Given the description of an element on the screen output the (x, y) to click on. 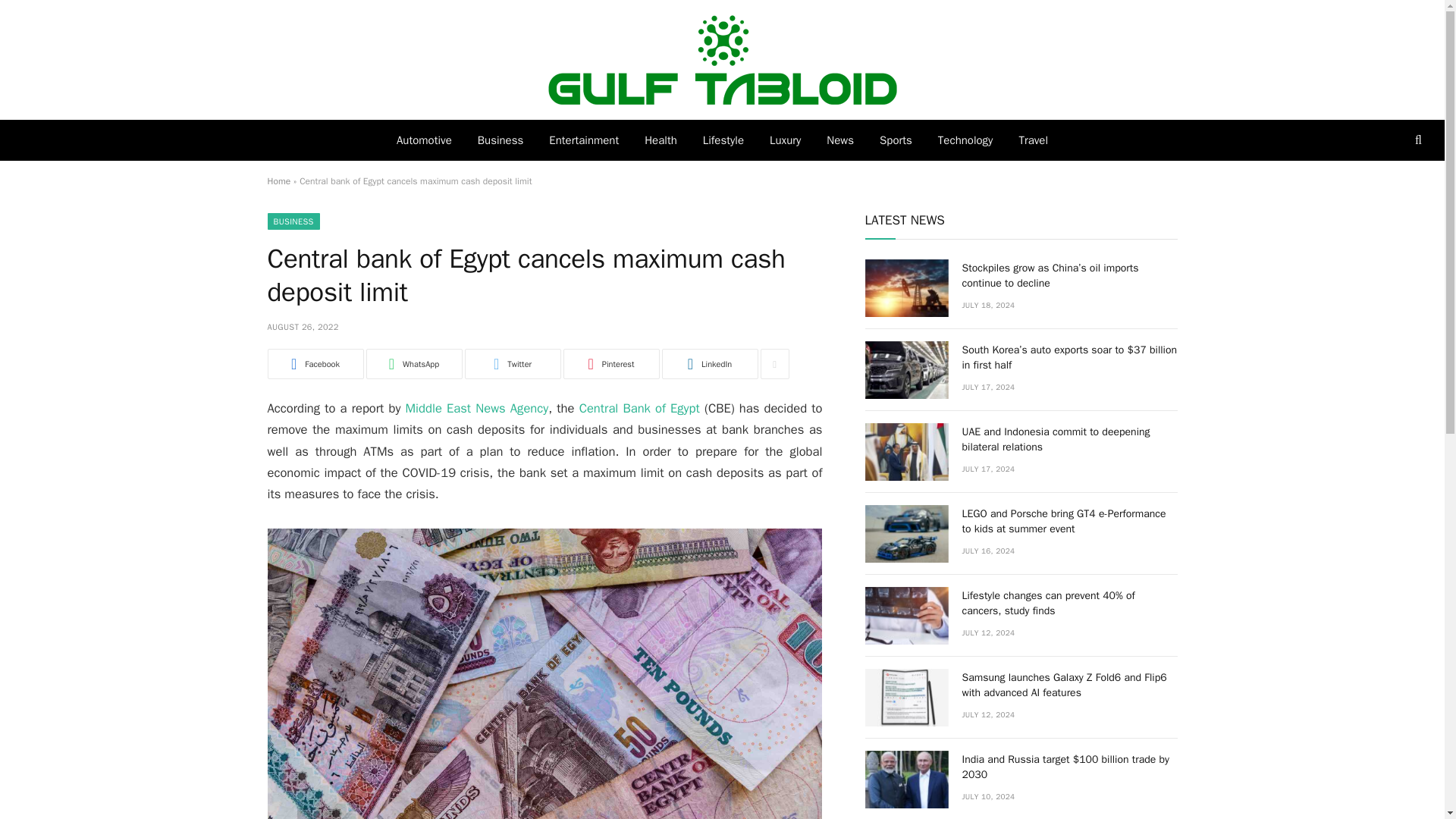
Luxury (785, 139)
Share on Pinterest (610, 363)
BUSINESS (292, 221)
Search (1417, 139)
Share on Facebook (314, 363)
Facebook (314, 363)
Home (277, 181)
Sports (895, 139)
WhatsApp (413, 363)
Travel (1033, 139)
Share on WhatsApp (413, 363)
Business (500, 139)
News (839, 139)
Automotive (424, 139)
